Given the description of an element on the screen output the (x, y) to click on. 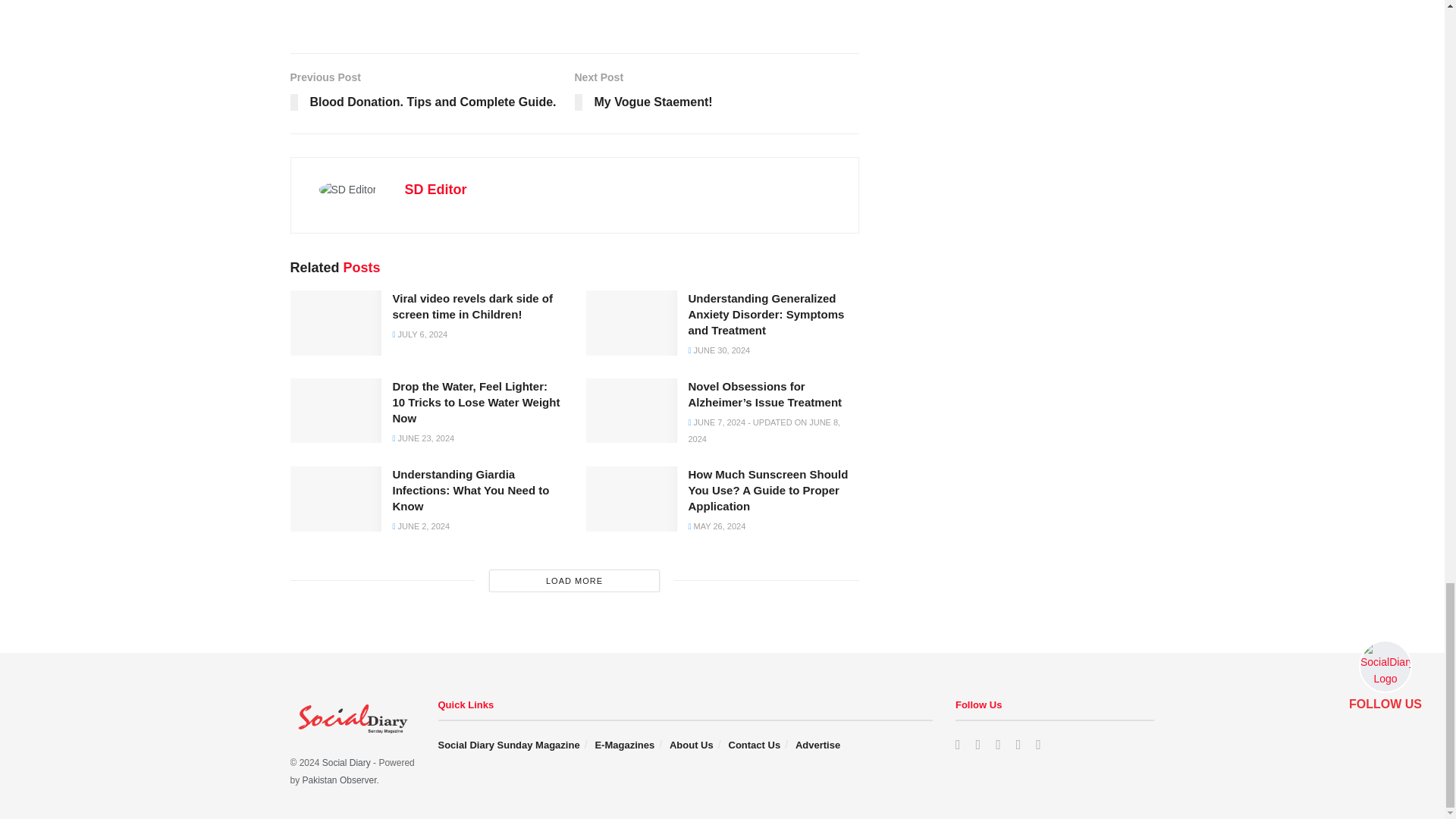
Webmaster (339, 779)
